Given the description of an element on the screen output the (x, y) to click on. 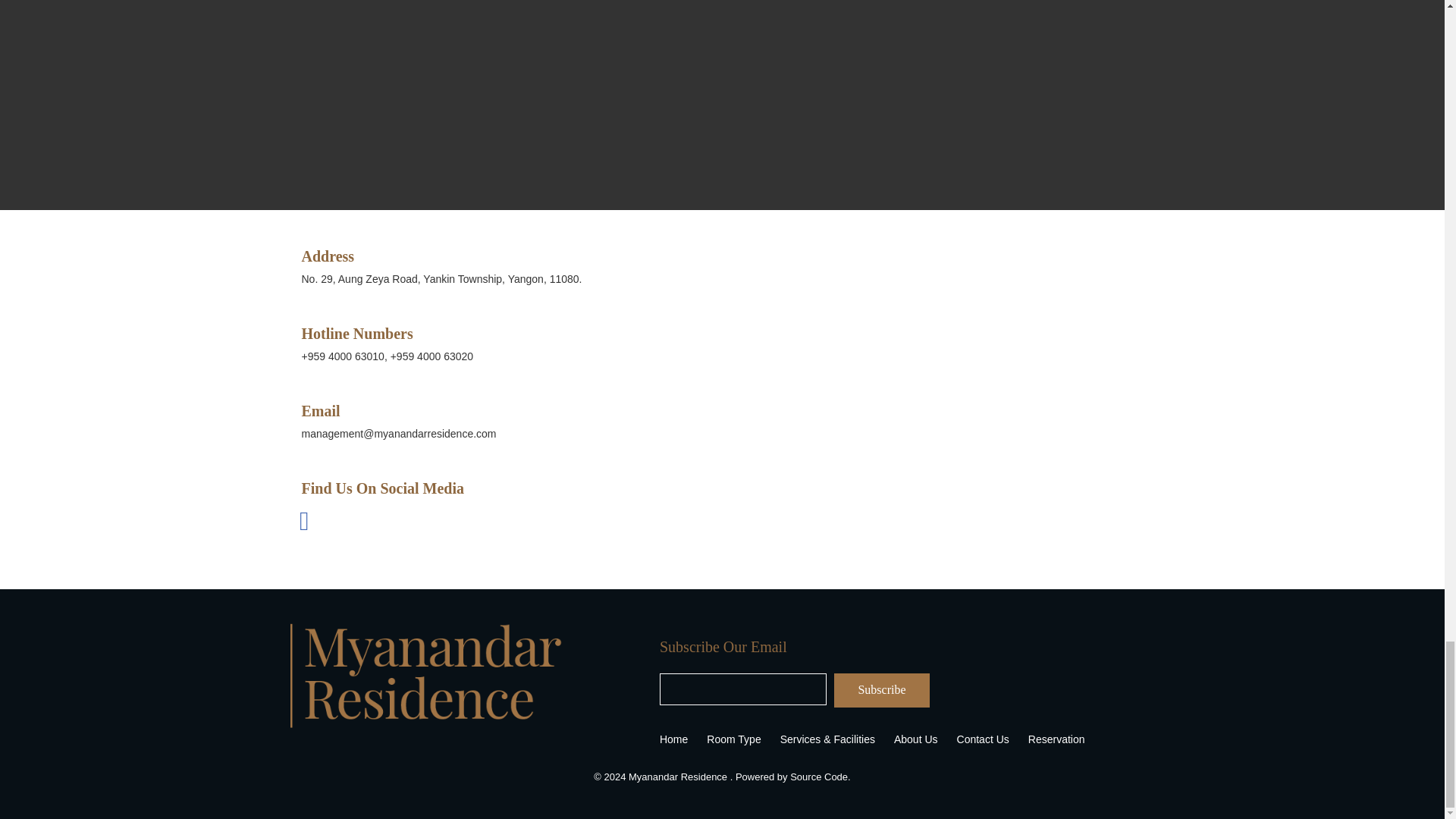
Contact Us (976, 739)
Room Type (727, 739)
Home (667, 739)
About Us (909, 739)
Source Code. (820, 765)
Reservation (1050, 739)
Subscribe (882, 690)
Subscribe (882, 690)
